Given the description of an element on the screen output the (x, y) to click on. 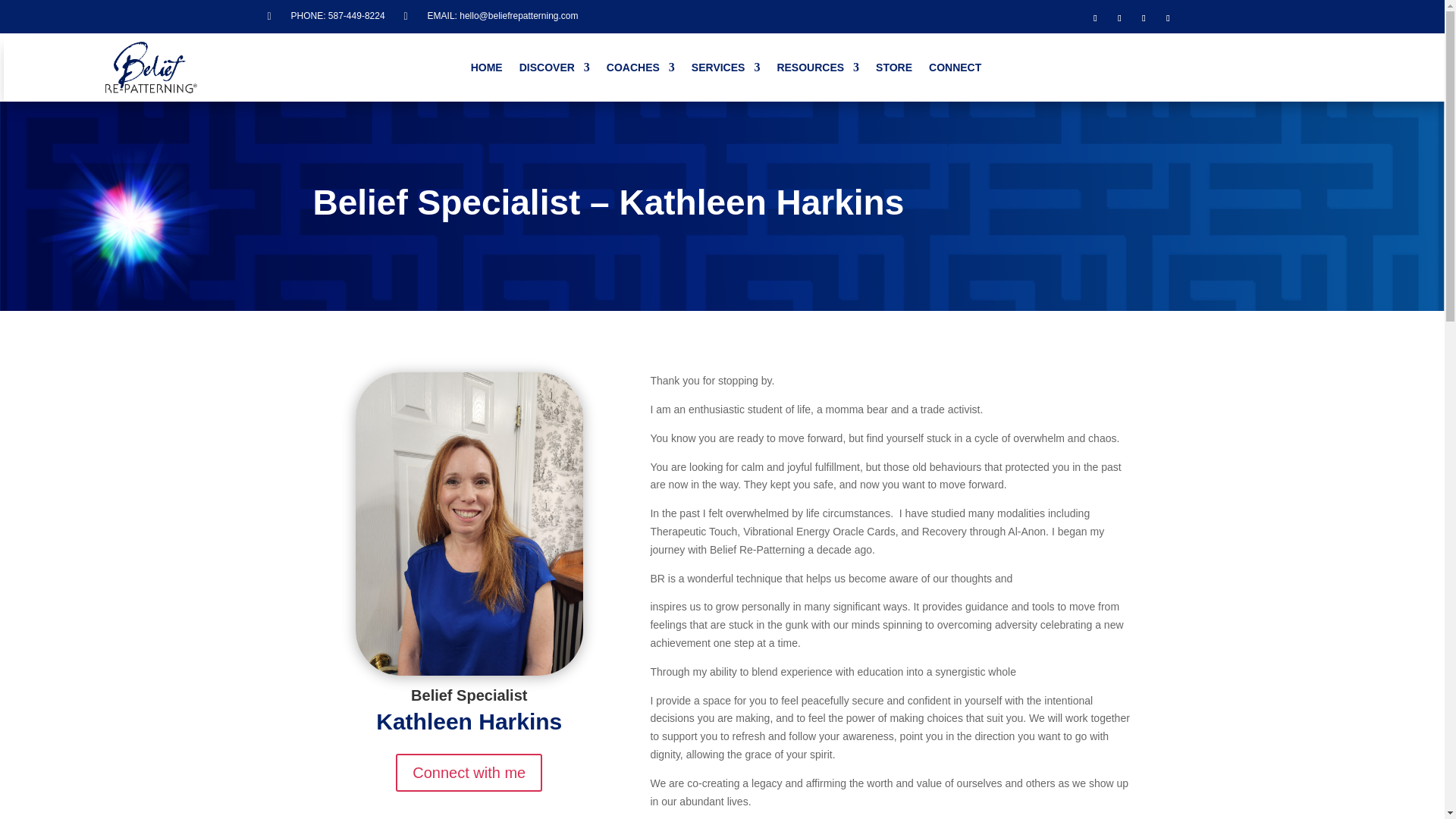
RESOURCES (817, 70)
HOME (486, 70)
PHONE: 587-449-8224 (338, 15)
STORE (894, 70)
CONNECT (954, 70)
SERVICES (725, 70)
Follow on LinkedIn (1143, 18)
COACHES (641, 70)
DISCOVER (554, 70)
Follow on Facebook (1094, 18)
Follow on Youtube (1118, 18)
Follow on Instagram (1167, 18)
